Given the description of an element on the screen output the (x, y) to click on. 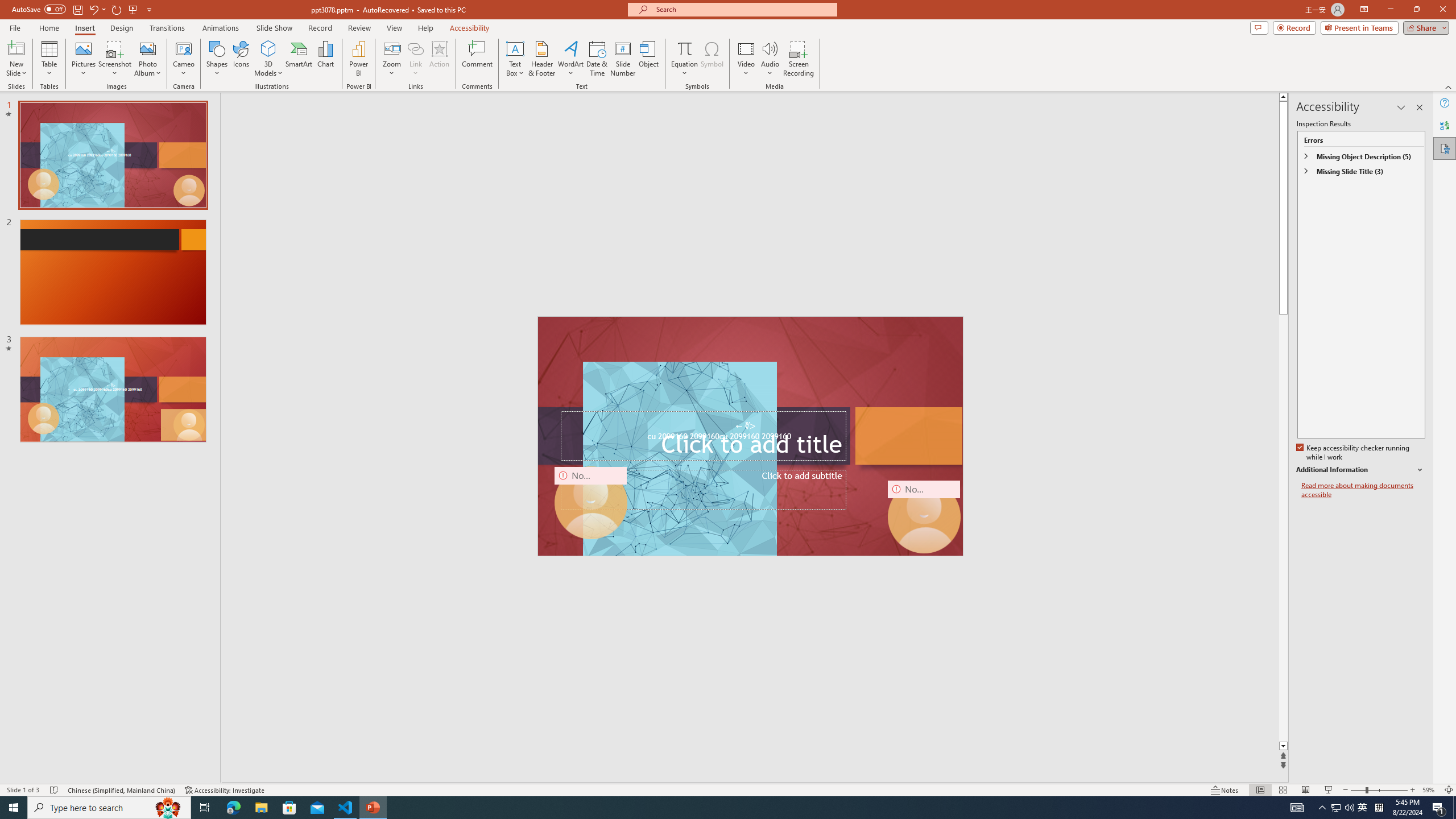
Object... (649, 58)
SmartArt... (298, 58)
Power BI (358, 58)
Draw Horizontal Text Box (515, 48)
TextBox 61 (749, 437)
